Given the description of an element on the screen output the (x, y) to click on. 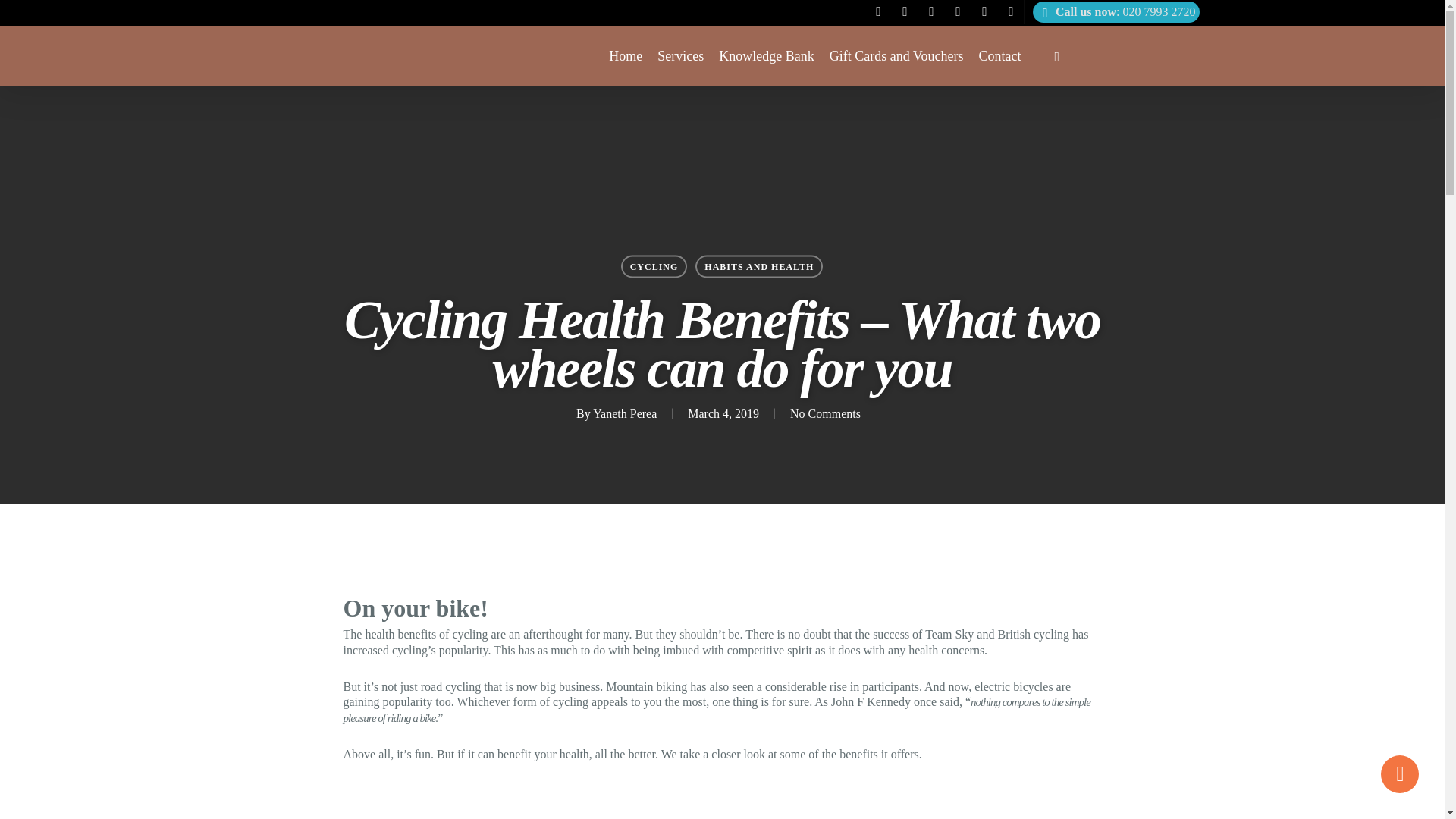
Services (680, 55)
HABITS AND HEALTH (758, 265)
Posts by Yaneth Perea (624, 412)
No Comments (825, 412)
Call us now: 020 7993 2720 (1115, 11)
Contact (999, 55)
Home (625, 55)
Gift Cards and Vouchers (896, 55)
CYCLING (654, 265)
Yaneth Perea (624, 412)
Knowledge Bank (766, 55)
